Given the description of an element on the screen output the (x, y) to click on. 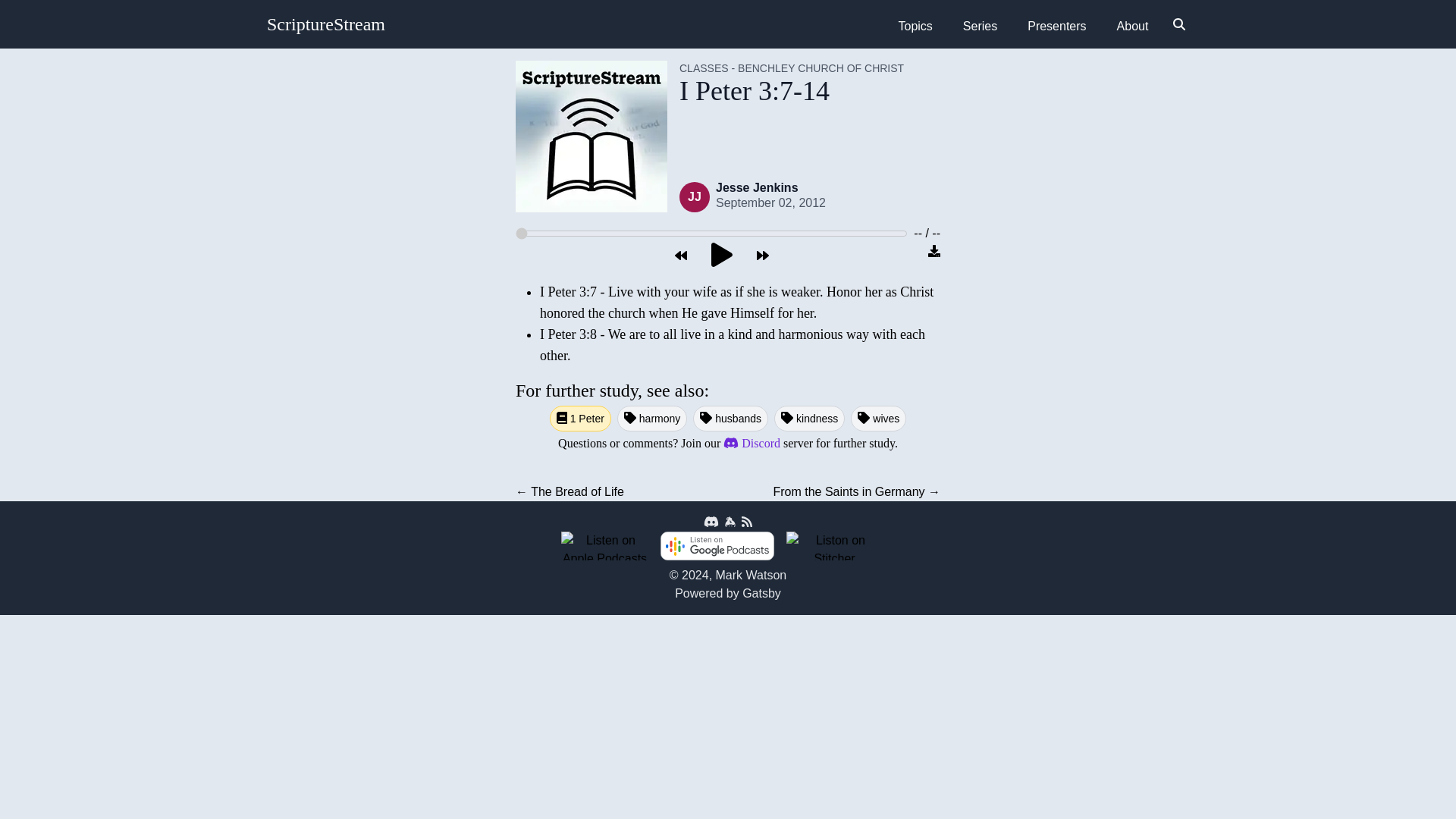
wives (877, 418)
JJ (694, 196)
ScriptureStream (325, 24)
Topics (914, 26)
Jesse Jenkins (756, 187)
husbands (730, 418)
Gatsby (761, 593)
kindness (809, 418)
Series (979, 26)
Presenters (1055, 26)
0 (711, 233)
About (1132, 26)
I Peter 3:7-14 (791, 91)
Discord (750, 442)
1 Peter (580, 418)
